Given the description of an element on the screen output the (x, y) to click on. 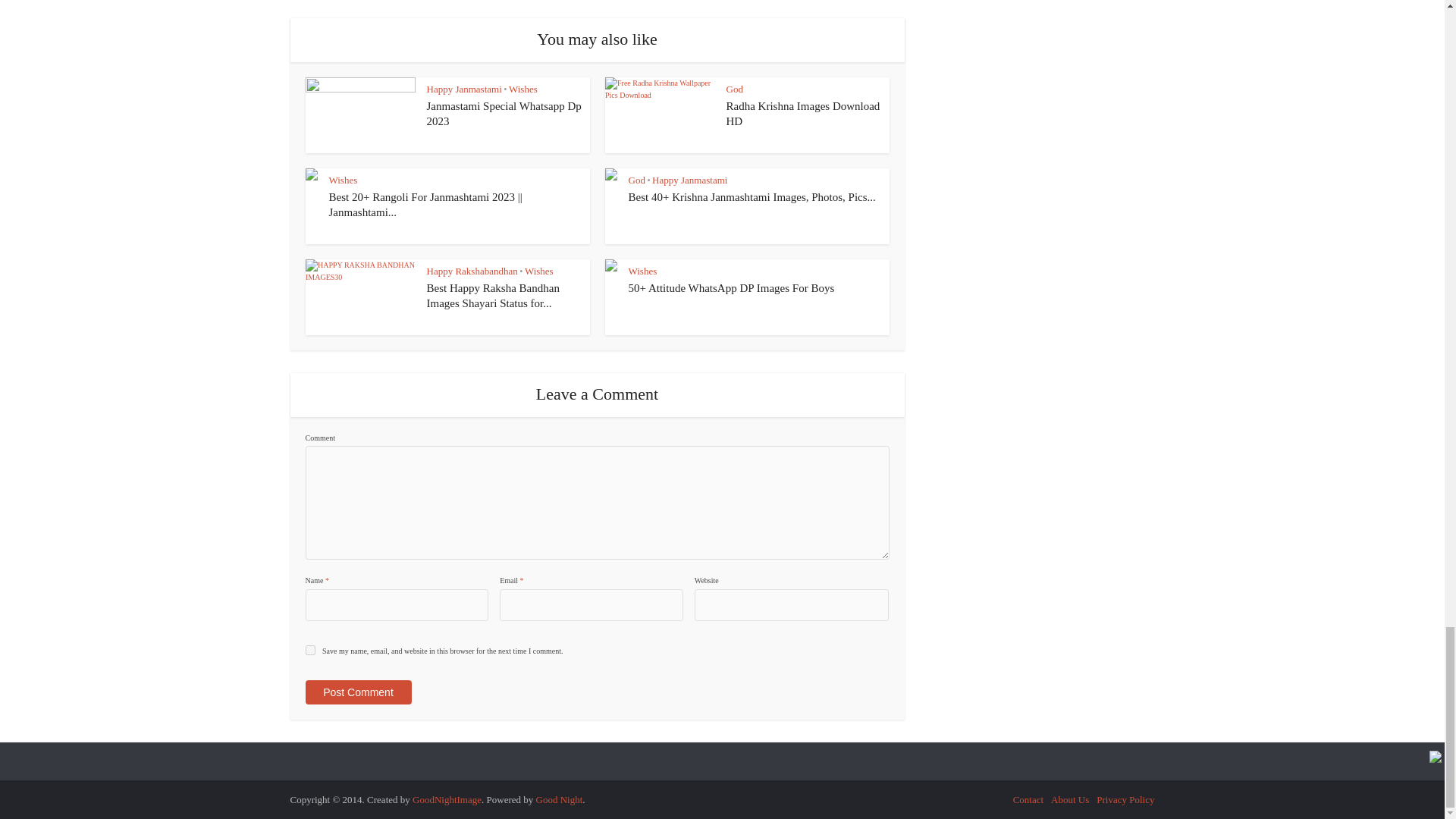
Janmastami Special Whatsapp Dp 2023 (503, 113)
Post Comment (357, 692)
yes (309, 650)
Radha Krishna Images Download HD (803, 113)
